Given the description of an element on the screen output the (x, y) to click on. 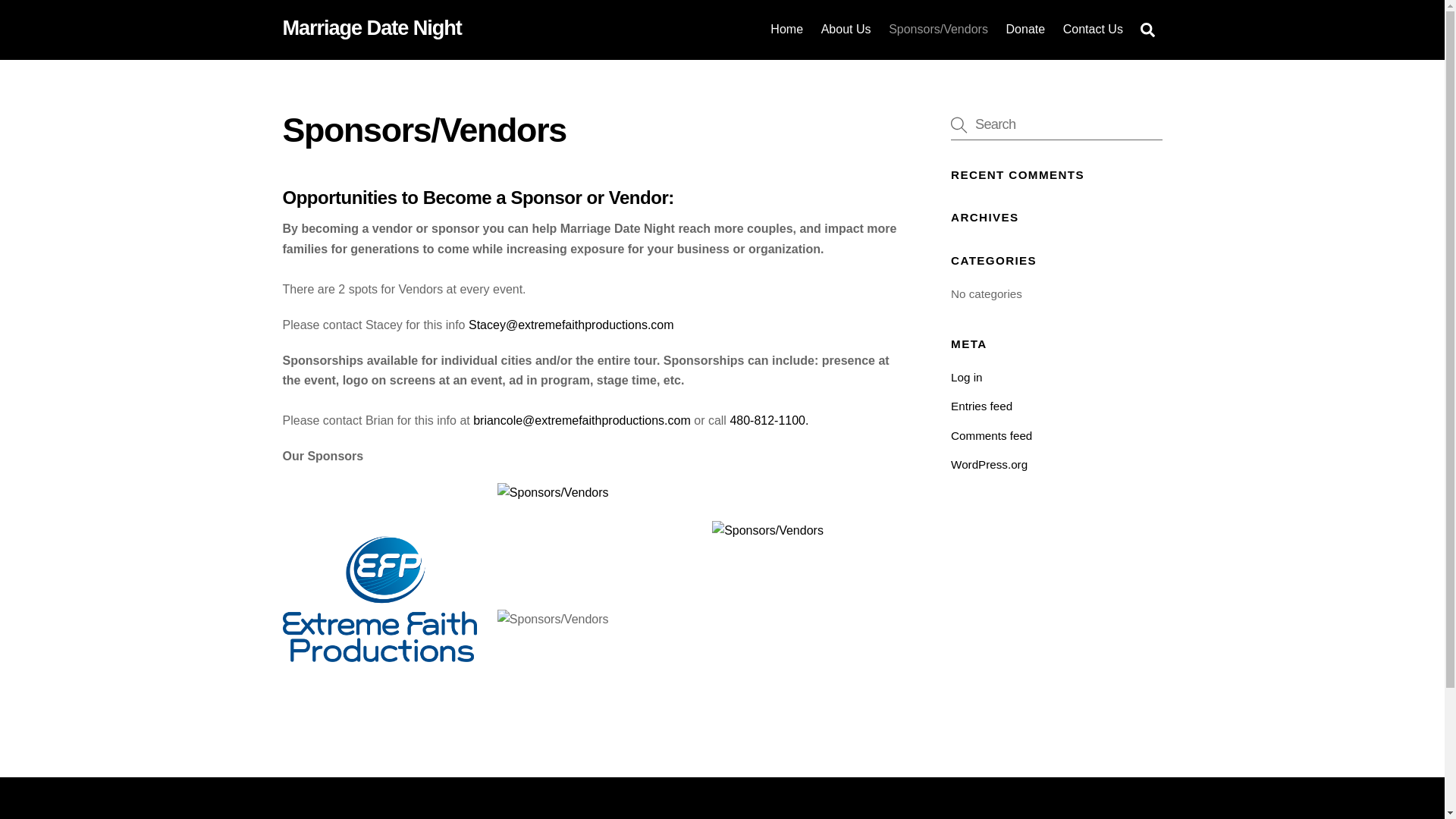
Contact Us (1092, 29)
Search (1055, 123)
About Us (845, 29)
480-812-1100. (768, 420)
Home (786, 29)
Marriage Date Night (371, 27)
Comments feed (991, 435)
Search (1146, 29)
Entries feed (980, 405)
WordPress.org (988, 463)
